Given the description of an element on the screen output the (x, y) to click on. 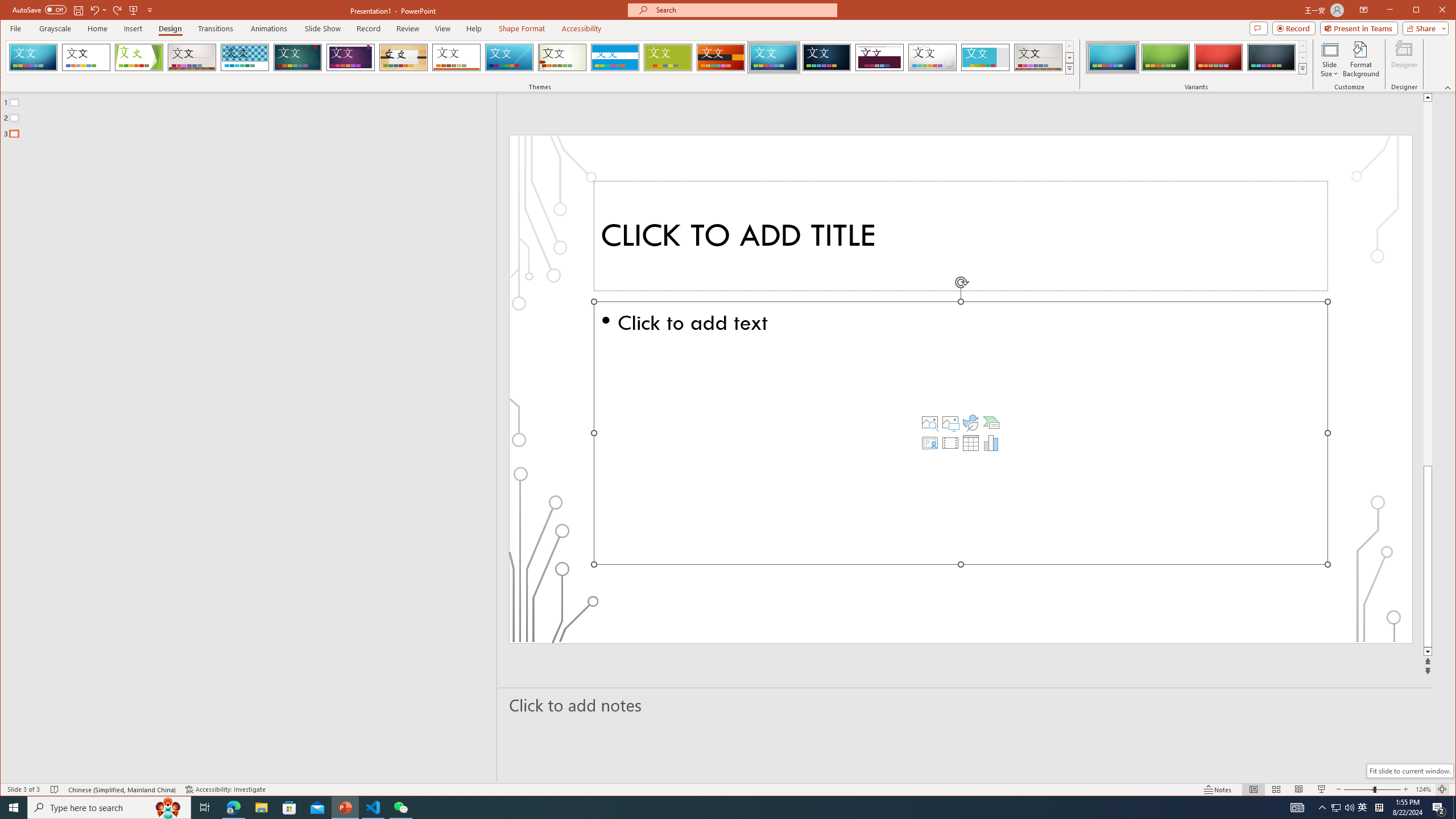
AutomationID: SlideThemesGallery (540, 57)
